Given the description of an element on the screen output the (x, y) to click on. 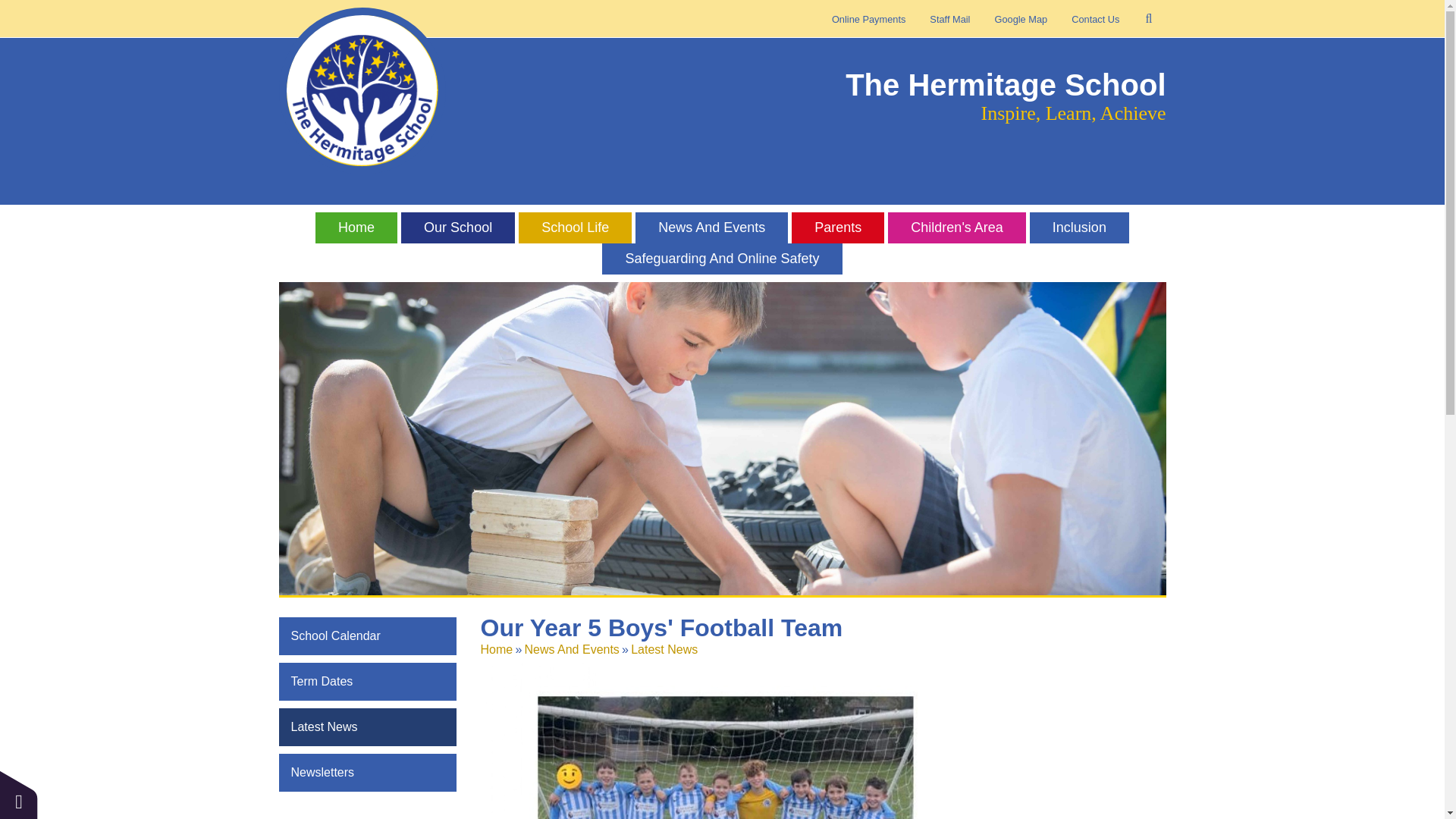
Our School (458, 229)
Safeguarding And Online Safety (721, 260)
Children'S Area (957, 229)
Term Dates (368, 681)
News And Events (571, 649)
Home (496, 649)
Staff Mail (949, 19)
Home (356, 229)
Inclusion (1079, 229)
Online Payments (868, 19)
Newsletters (368, 772)
Google Map (1020, 19)
Latest News (663, 649)
Parents (837, 229)
School Life (574, 229)
